Given the description of an element on the screen output the (x, y) to click on. 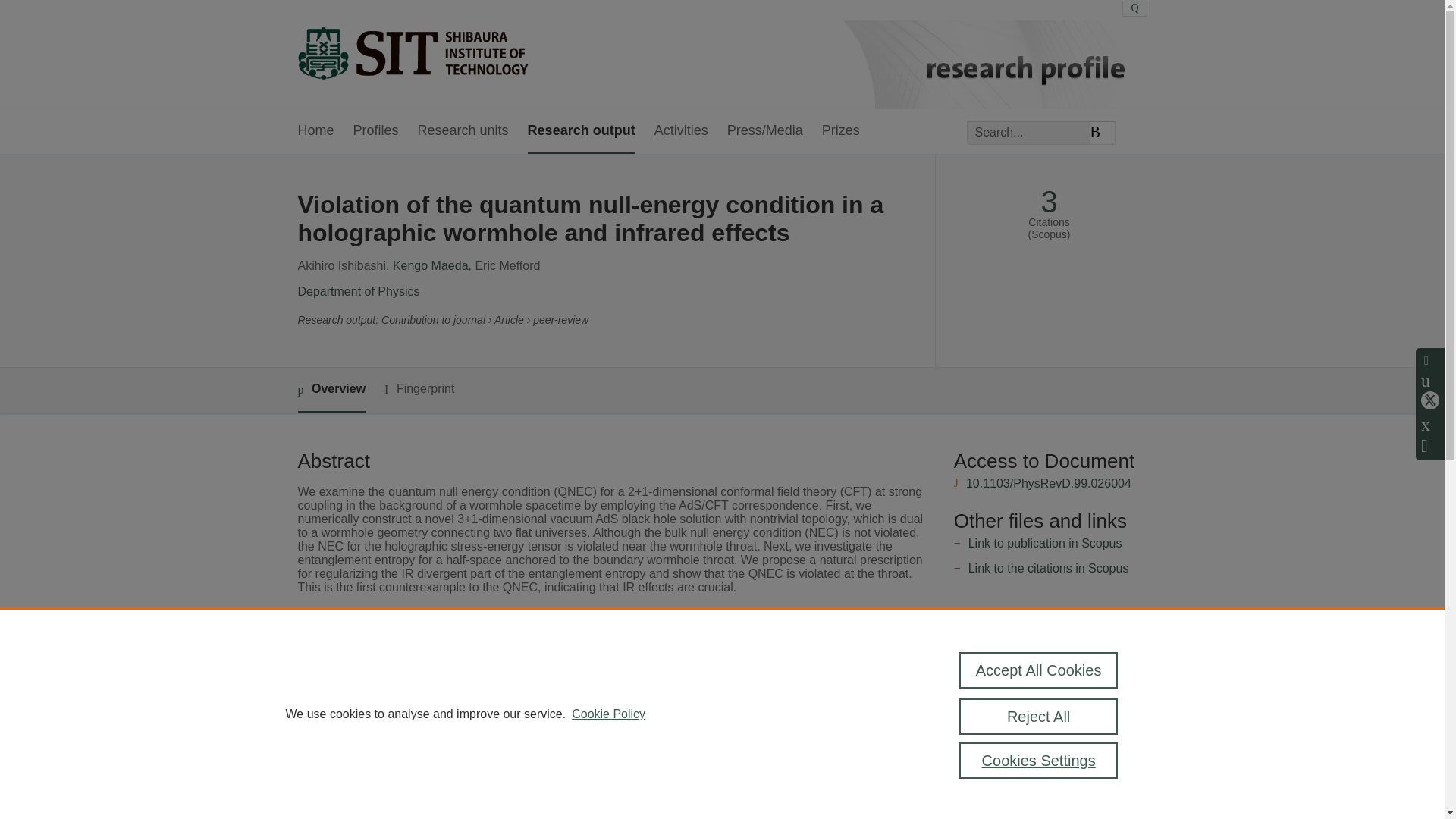
Physical Review D (560, 660)
Department of Physics (358, 291)
Overview (331, 389)
Research units (462, 130)
Fingerprint (419, 389)
Shibaura Institute of Technology Home (412, 54)
Profiles (375, 130)
Link to publication in Scopus (1045, 543)
Kengo Maeda (430, 265)
Link to the citations in Scopus (1048, 567)
